Given the description of an element on the screen output the (x, y) to click on. 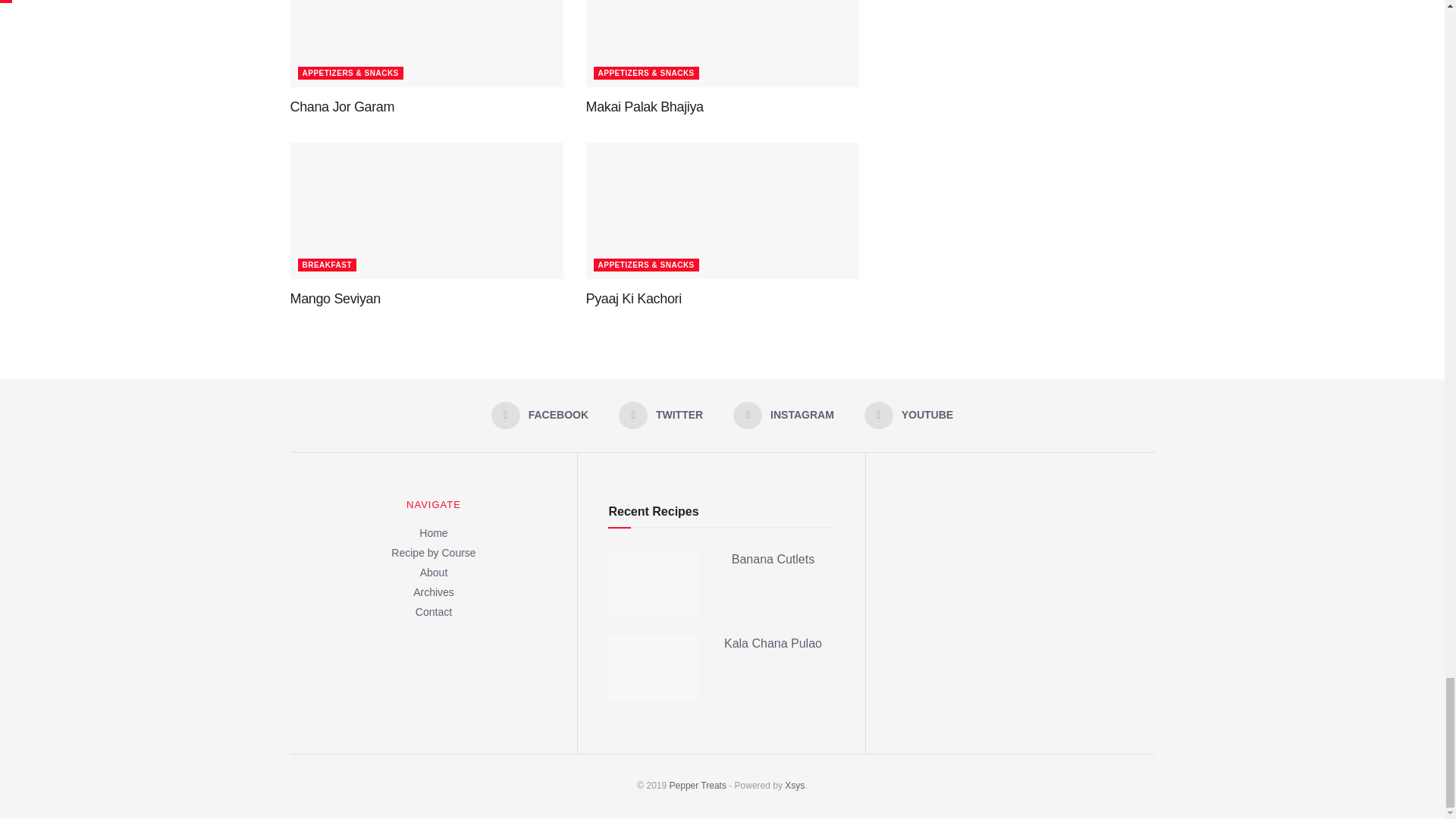
Powered by Xsys (697, 785)
Xsys (794, 785)
